Given the description of an element on the screen output the (x, y) to click on. 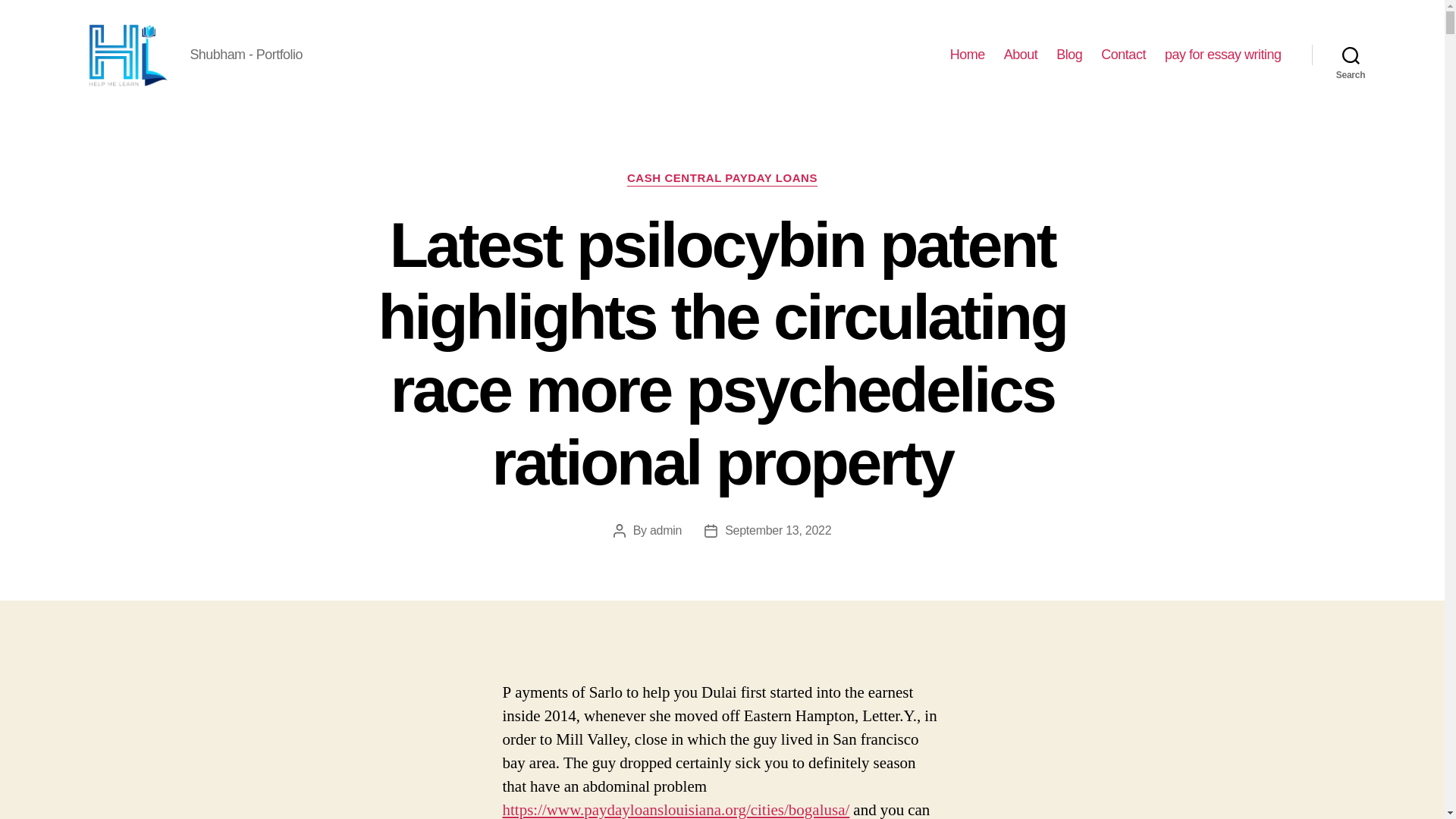
Home (967, 54)
pay for essay writing (1222, 54)
CASH CENTRAL PAYDAY LOANS (721, 178)
Contact (1122, 54)
Search (1350, 55)
Blog (1069, 54)
About (1021, 54)
admin (665, 530)
September 13, 2022 (778, 530)
